Given the description of an element on the screen output the (x, y) to click on. 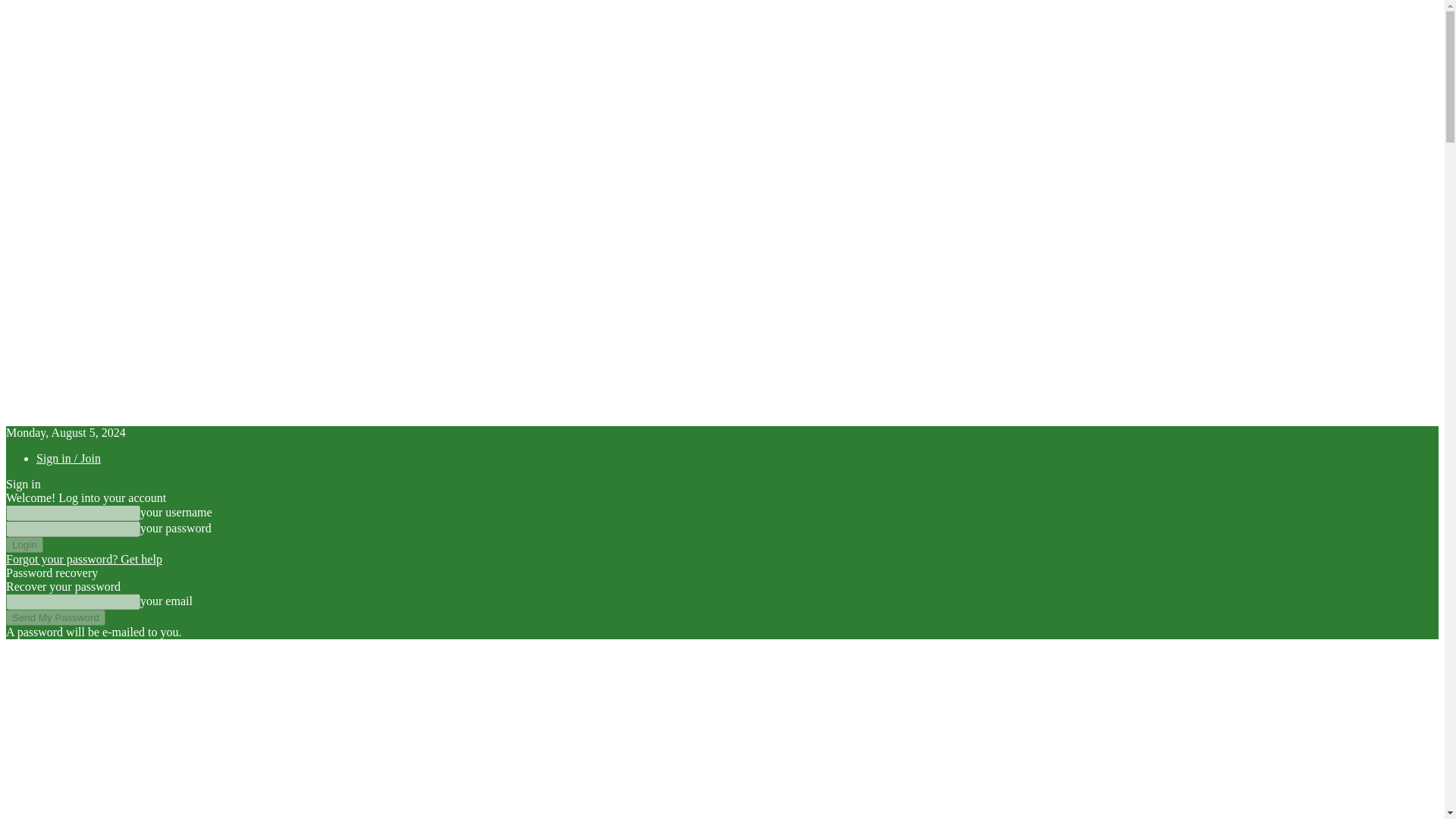
Forgot your password? Get help (83, 558)
Send My Password (54, 617)
Login (24, 544)
